Given the description of an element on the screen output the (x, y) to click on. 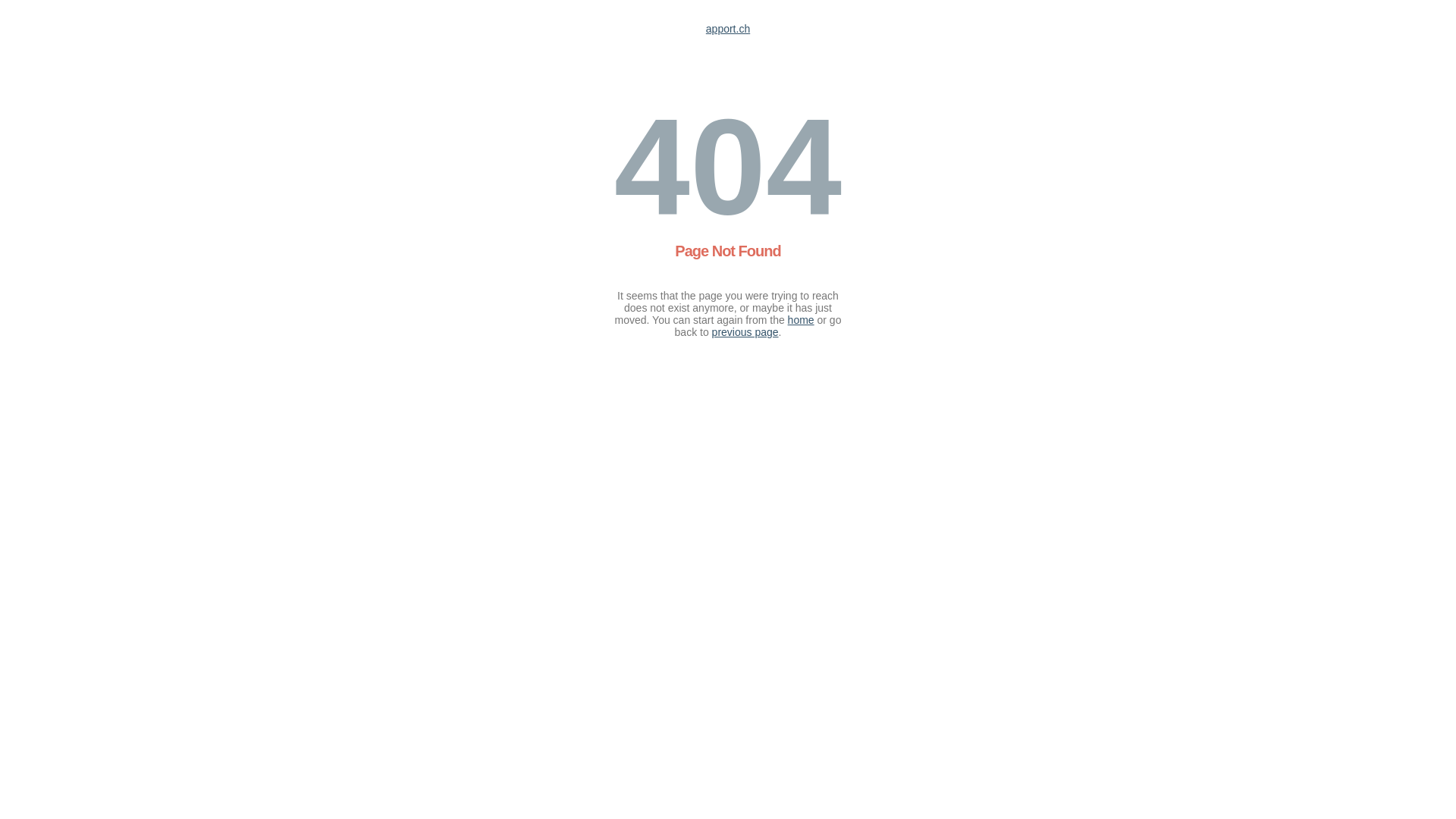
previous page Element type: text (745, 332)
apport.ch Element type: text (727, 28)
home Element type: text (800, 319)
